Given the description of an element on the screen output the (x, y) to click on. 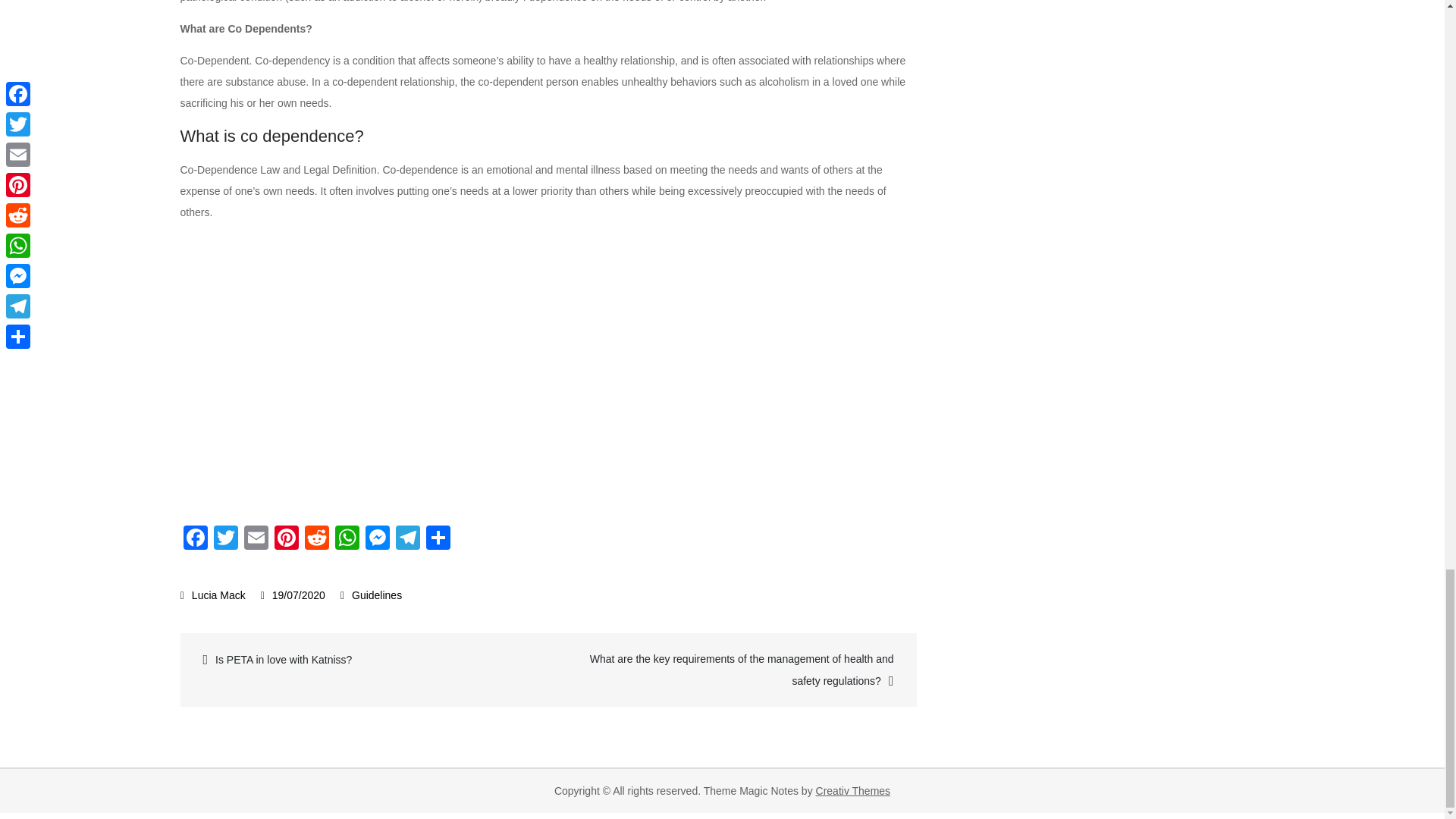
Pinterest (285, 539)
Is PETA in love with Katniss? (366, 659)
Guidelines (376, 594)
Working the 1st Step of Codependancy Part 1 (422, 369)
Pinterest (285, 539)
Twitter (226, 539)
Facebook (195, 539)
Email (255, 539)
Telegram (408, 539)
